Given the description of an element on the screen output the (x, y) to click on. 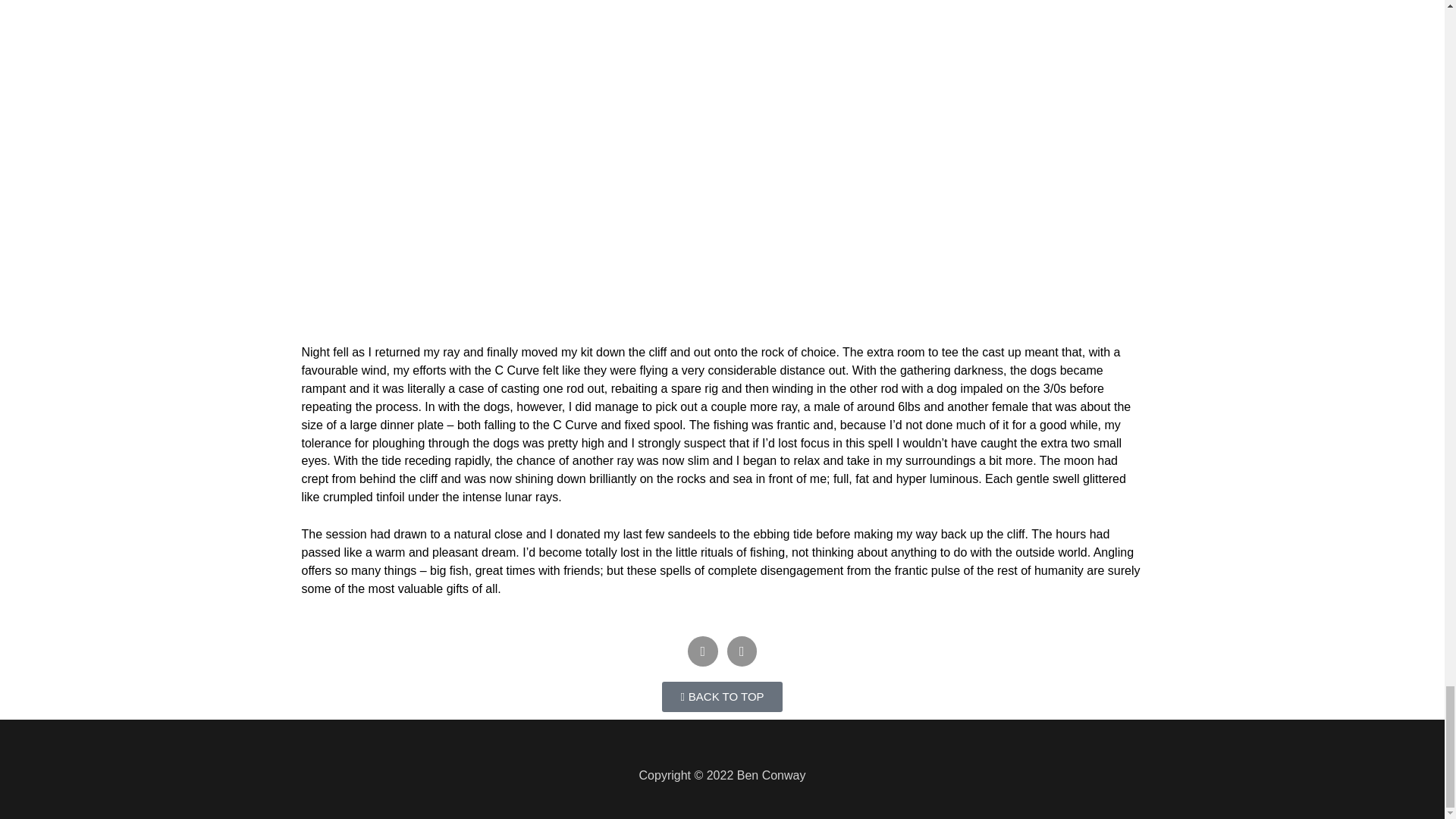
BACK TO TOP (721, 696)
